Given the description of an element on the screen output the (x, y) to click on. 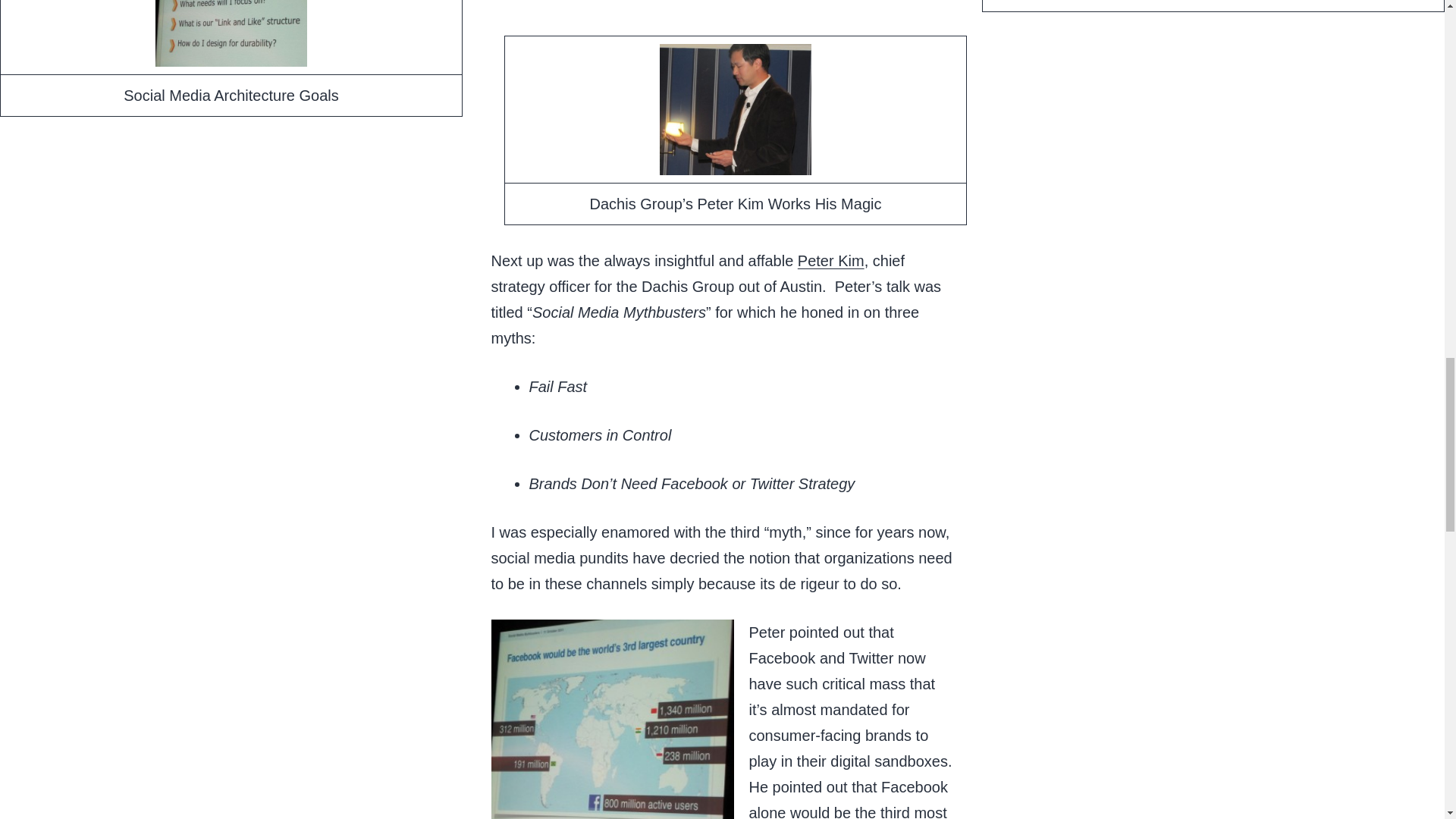
Peter Kim (830, 260)
